Given the description of an element on the screen output the (x, y) to click on. 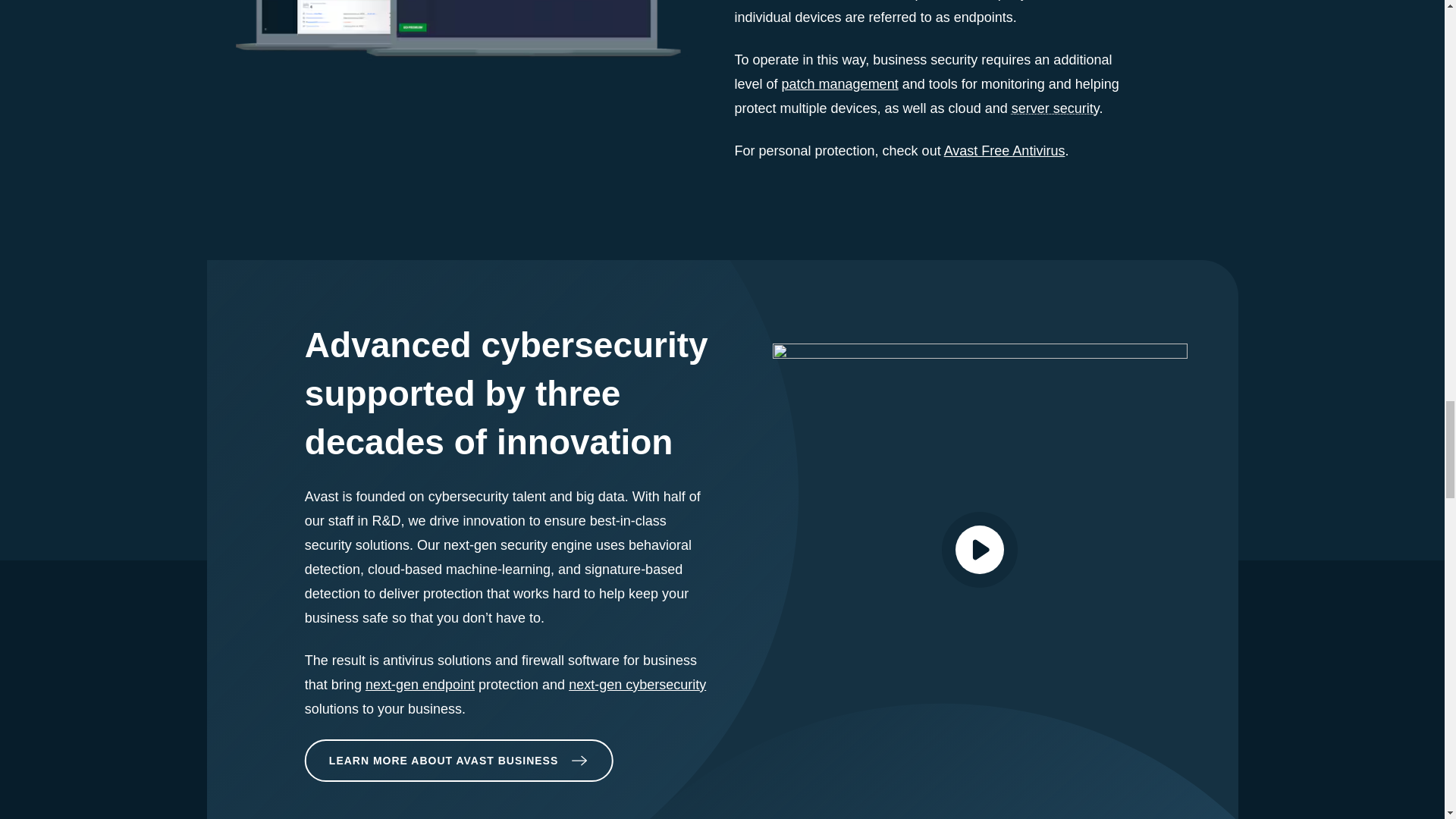
Learn more about Avast Business (458, 759)
